Given the description of an element on the screen output the (x, y) to click on. 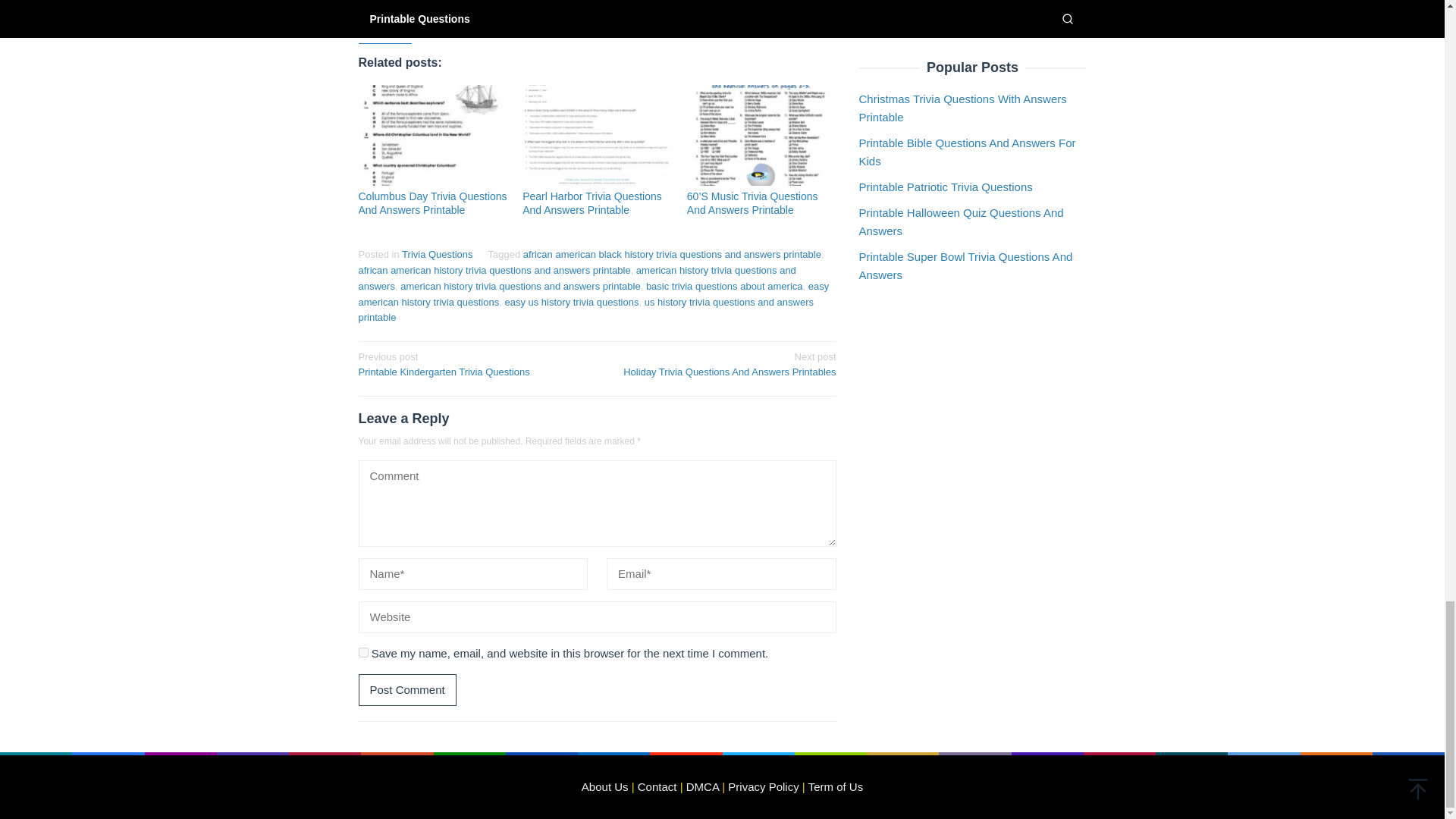
Like or Reblog (596, 22)
Post Comment (406, 689)
basic trivia questions about america (724, 285)
Trivia Questions (436, 254)
Post Comment (406, 689)
easy us history trivia questions (571, 301)
yes (363, 652)
